Given the description of an element on the screen output the (x, y) to click on. 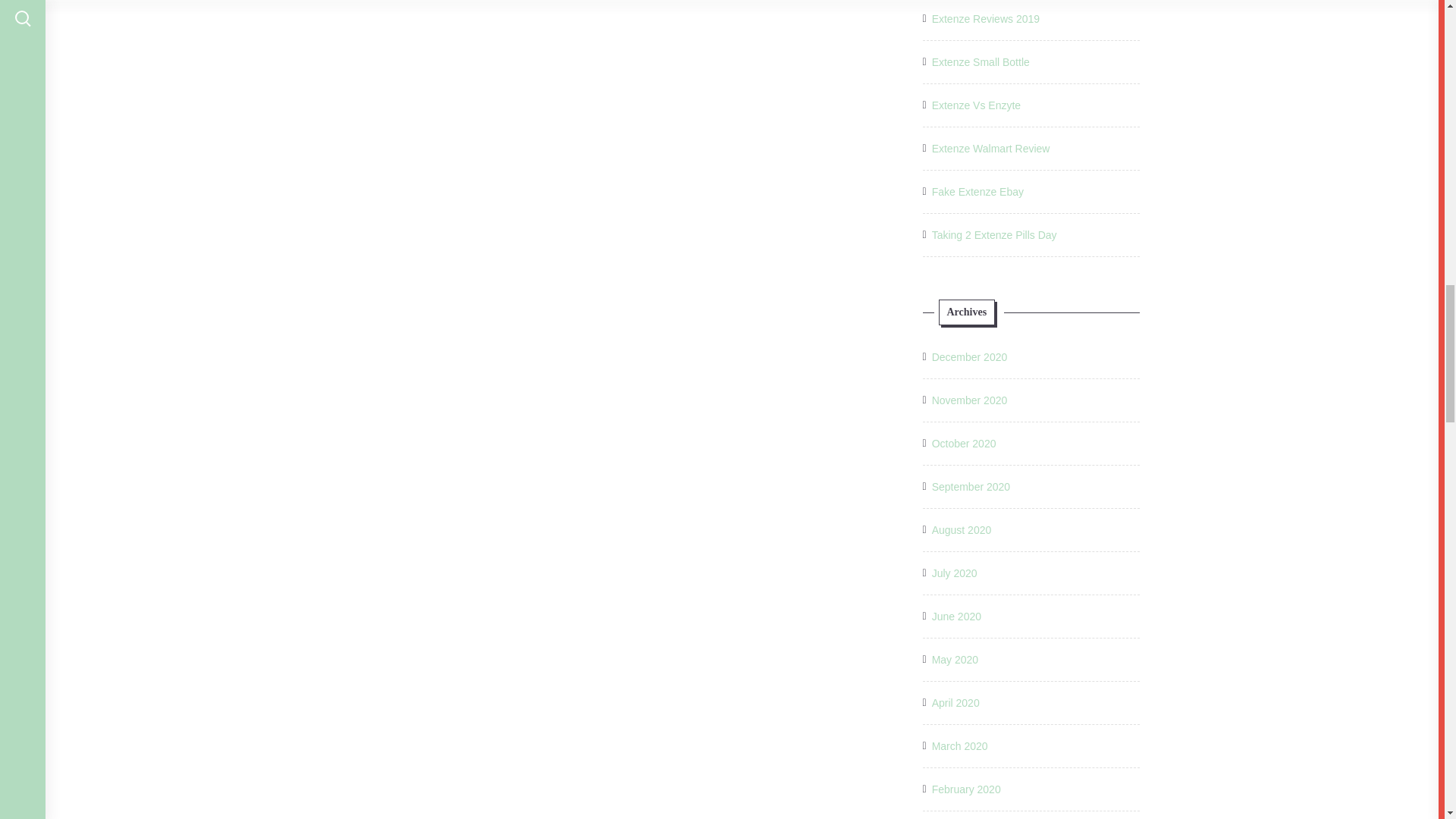
Extenze Reviews 2019 (985, 18)
